Given the description of an element on the screen output the (x, y) to click on. 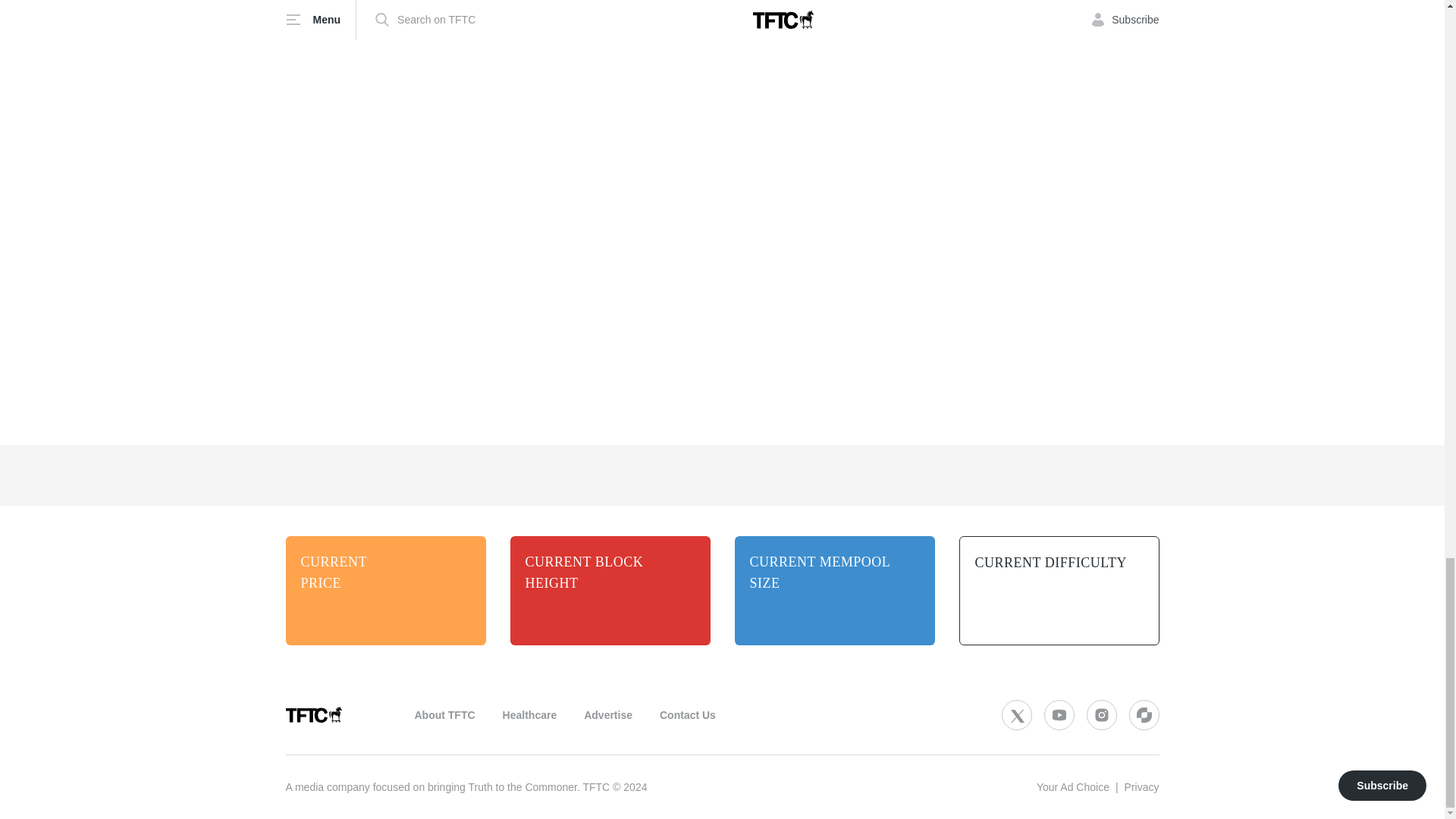
Healthcare (529, 715)
About TFTC (443, 715)
Contact Us (687, 715)
Your Ad Choice (1072, 787)
Advertise (607, 715)
Privacy (1141, 787)
